Given the description of an element on the screen output the (x, y) to click on. 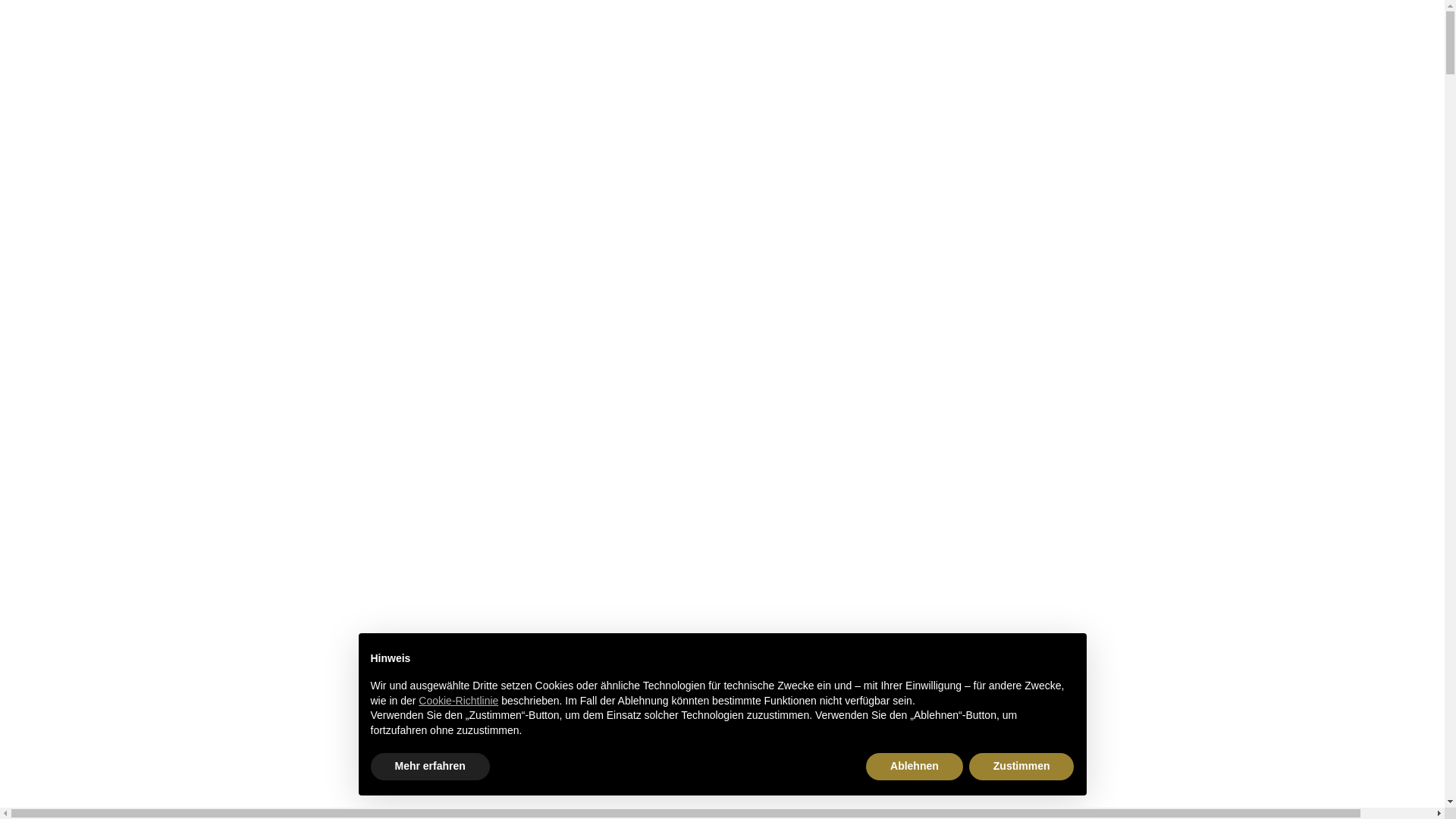
Cookie-Richtlinie Element type: text (458, 700)
Mehr erfahren Element type: text (429, 766)
Zustimmen Element type: text (1021, 766)
Ablehnen Element type: text (914, 766)
